Given the description of an element on the screen output the (x, y) to click on. 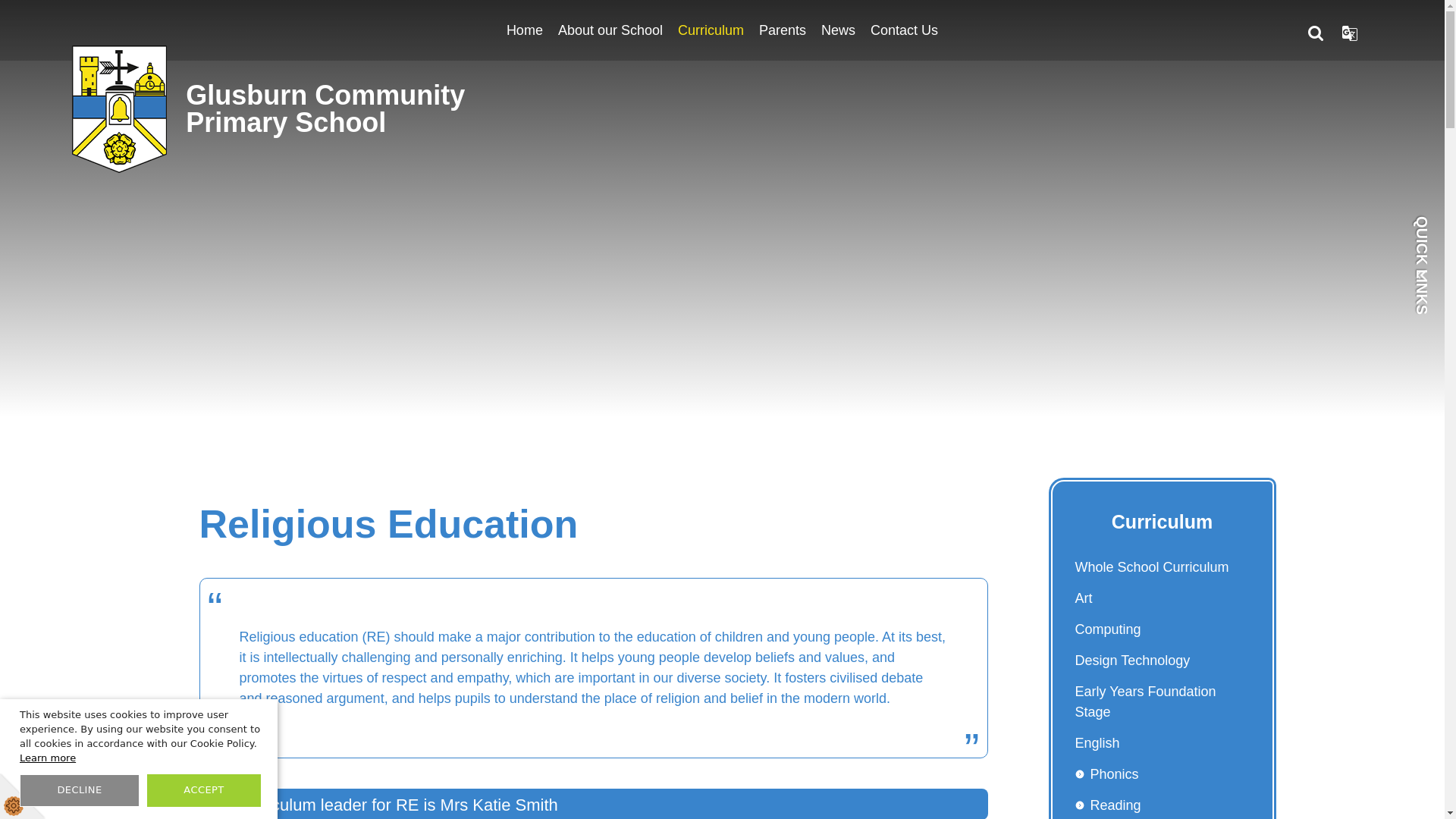
Parents (782, 30)
About our School (609, 30)
Home (524, 30)
Curriculum (710, 30)
